Given the description of an element on the screen output the (x, y) to click on. 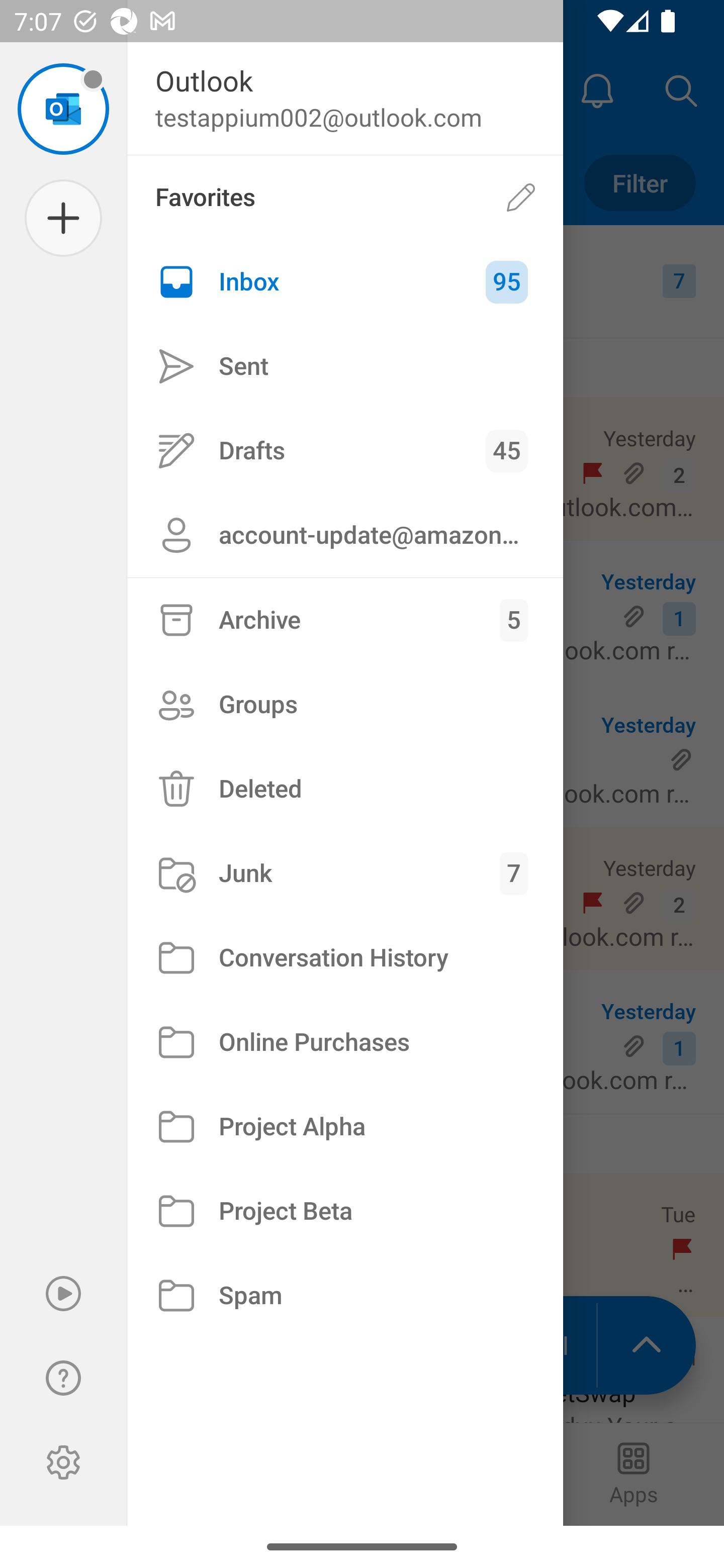
Edit favorites (520, 197)
Add account (63, 217)
Inbox Inbox, 95 unread emails,Selected (345, 281)
Sent (345, 366)
Drafts Drafts, 45 unread emails (345, 450)
account-update@amazon.com (345, 534)
Archive Archive, 2 of 10, level 1, 5 unread emails (345, 619)
Groups Groups, 3 of 10, level 1 (345, 703)
Deleted Deleted, 4 of 10, level 1 (345, 788)
Junk Junk, 5 of 10, level 1, 7 unread emails (345, 873)
Project Alpha Project Alpha, 8 of 10, level 1 (345, 1127)
Project Beta Project Beta, 9 of 10, level 1 (345, 1210)
Play My Emails (62, 1293)
Spam Spam, 10 of 10, level 1 (345, 1294)
Help (62, 1377)
Settings (62, 1462)
